Given the description of an element on the screen output the (x, y) to click on. 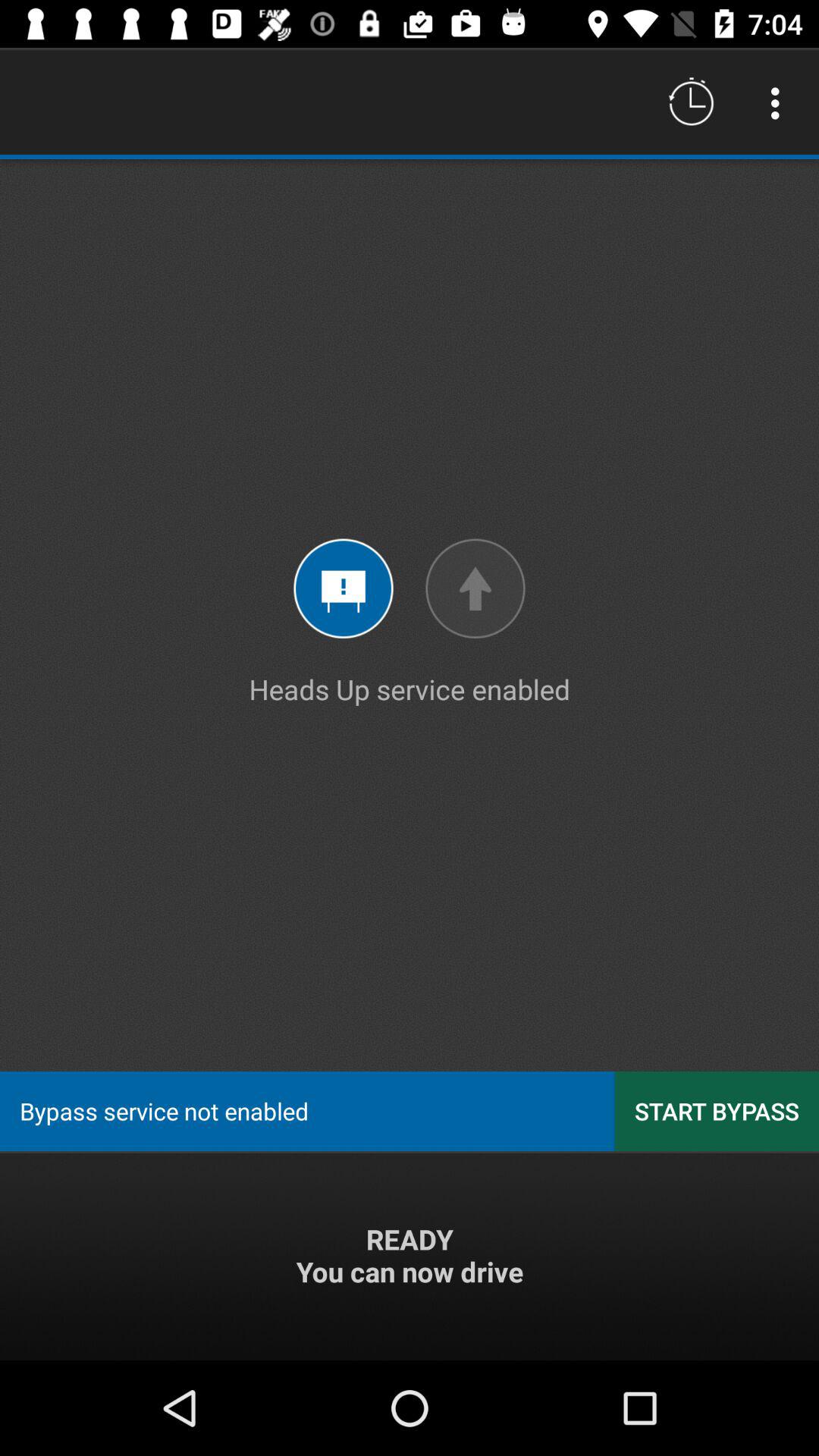
tap the icon above heads up service icon (691, 103)
